Given the description of an element on the screen output the (x, y) to click on. 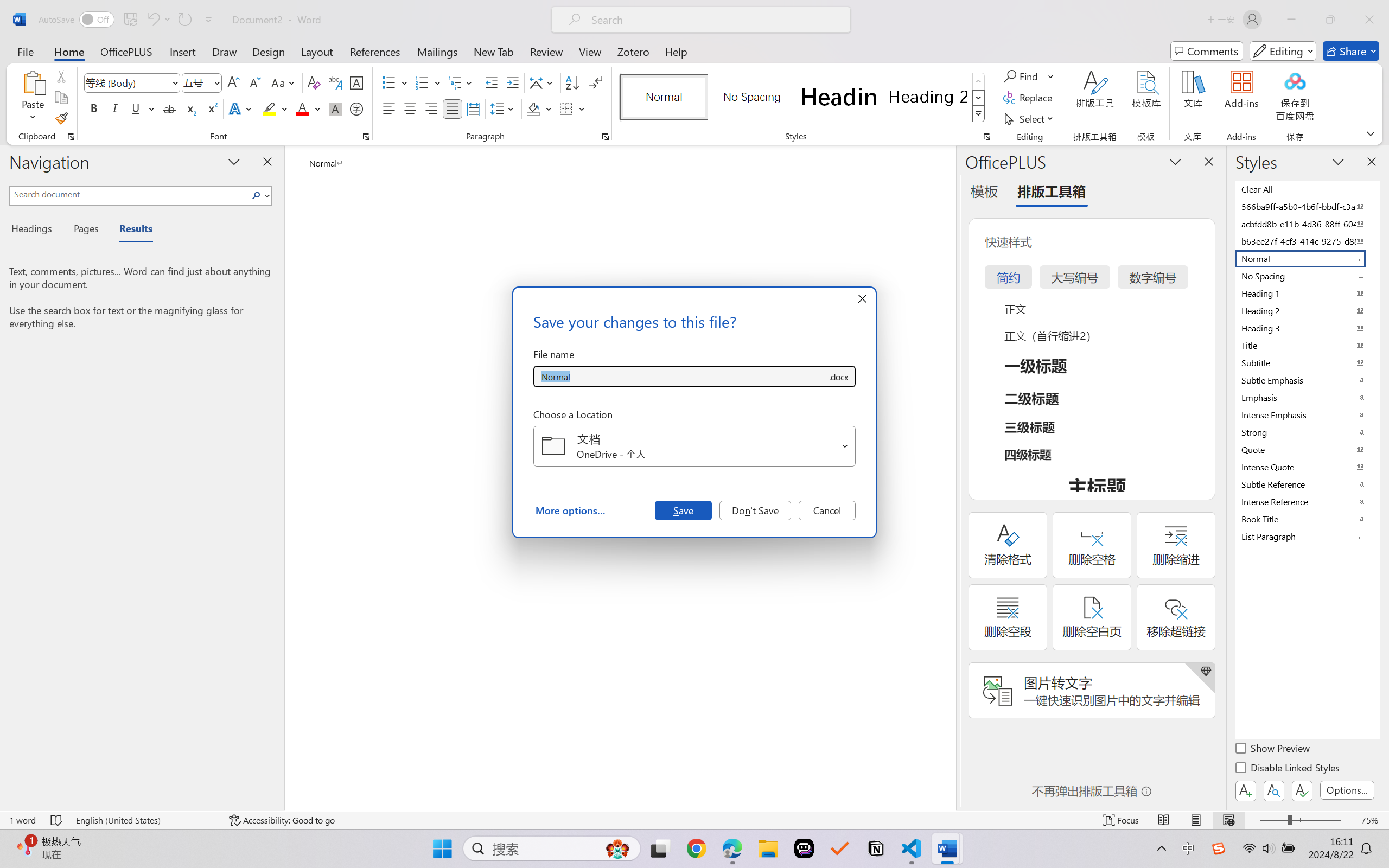
Paragraph... (605, 136)
Focus  (1121, 819)
Microsoft search (715, 19)
Intense Reference (1306, 501)
Quick Access Toolbar (127, 19)
Copy (60, 97)
Help (675, 51)
